Given the description of an element on the screen output the (x, y) to click on. 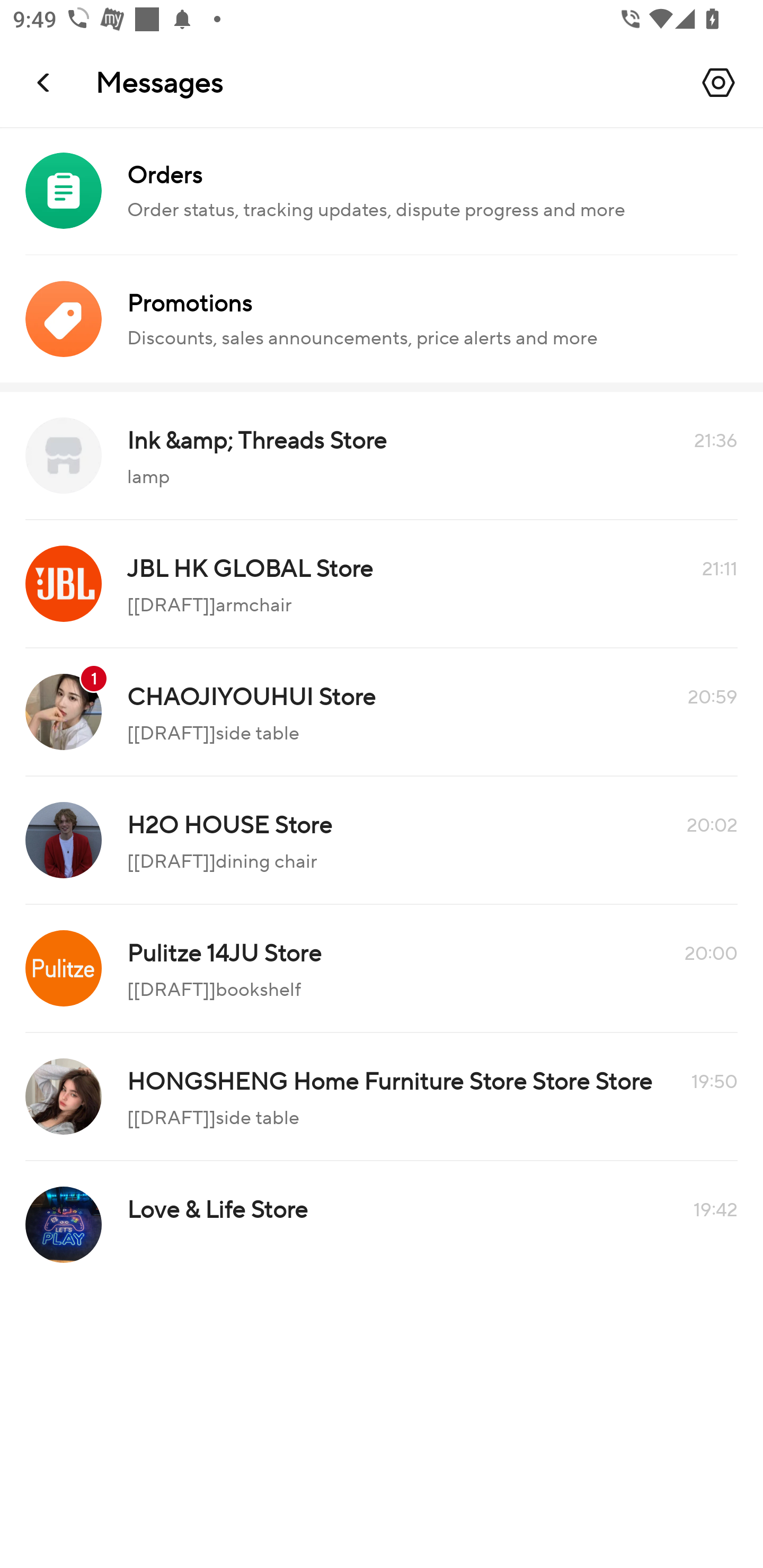
Navigate up (44, 82)
